Given the description of an element on the screen output the (x, y) to click on. 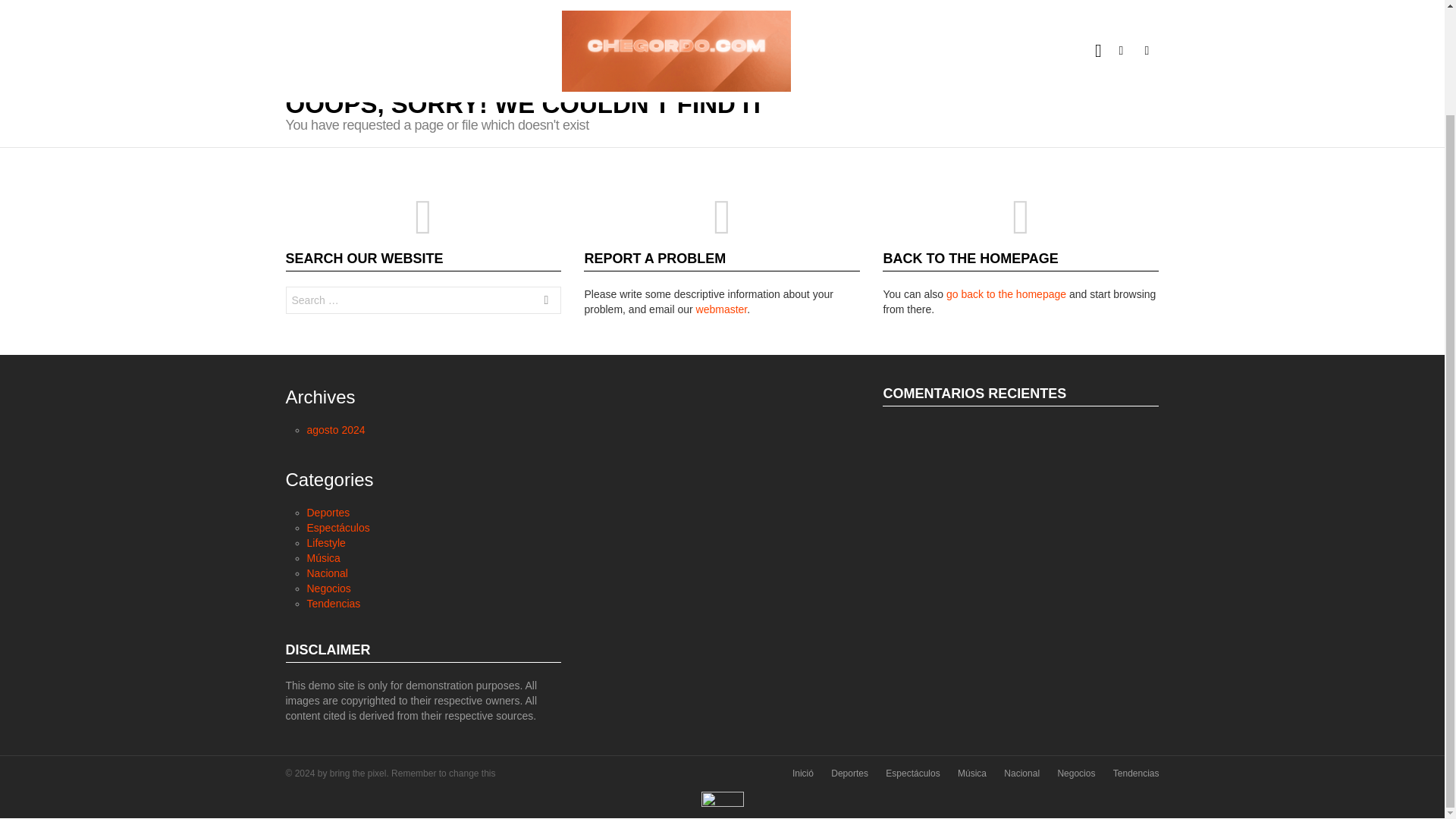
NEGOCIOS (687, 39)
LATEST (992, 44)
Search for: (422, 299)
NACIONAL (613, 39)
go back to the homepage (1005, 294)
agosto 2024 (335, 429)
webmaster (721, 309)
Deportes (327, 512)
DEPORTES (372, 39)
TENDENCIAS (768, 39)
